Given the description of an element on the screen output the (x, y) to click on. 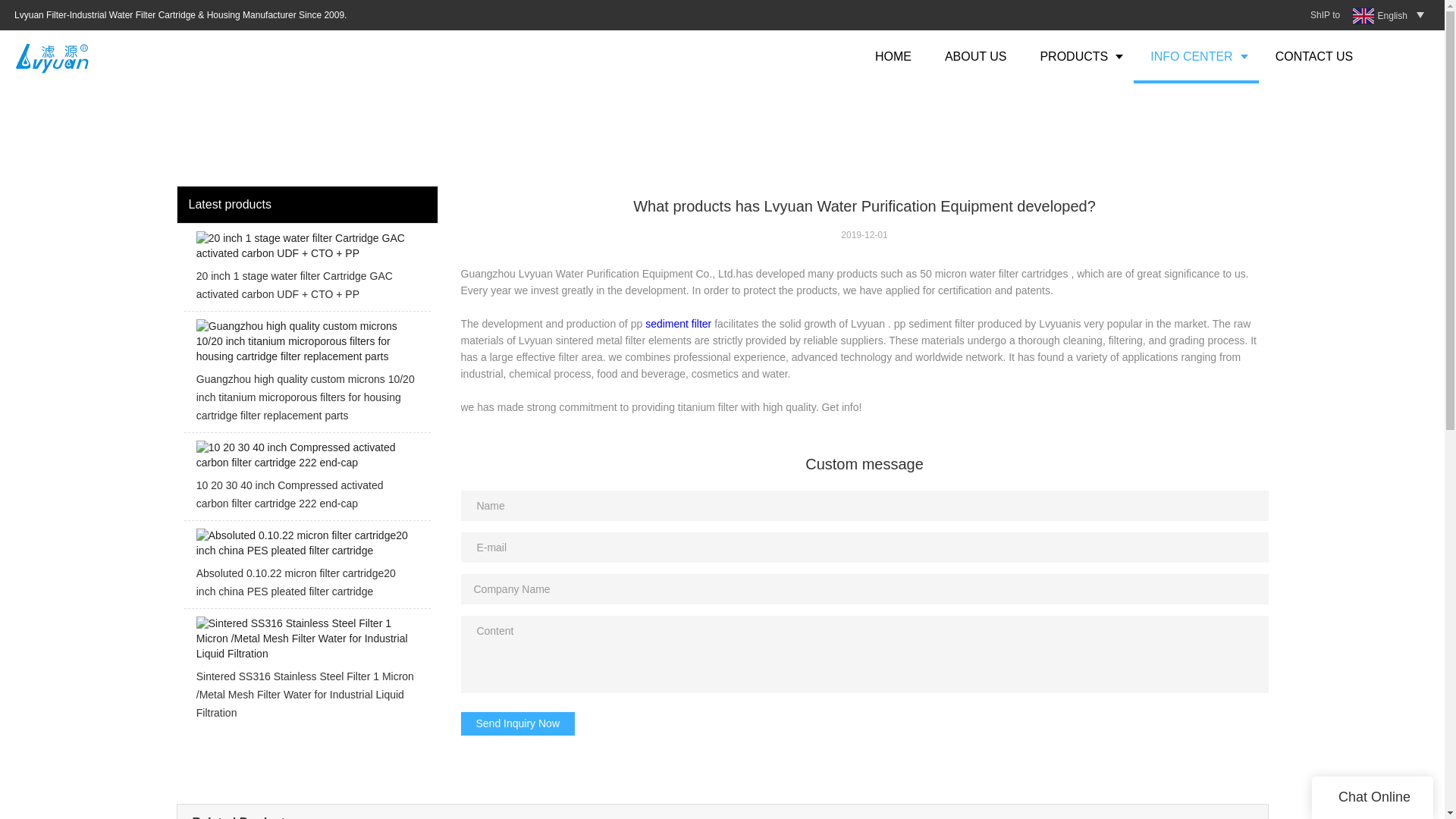
CONTACT US (1314, 56)
PRODUCTS (1078, 56)
Send Inquiry Now (518, 723)
sediment filter (678, 323)
ABOUT US (975, 56)
HOME (893, 56)
INFO CENTER (1195, 56)
